Given the description of an element on the screen output the (x, y) to click on. 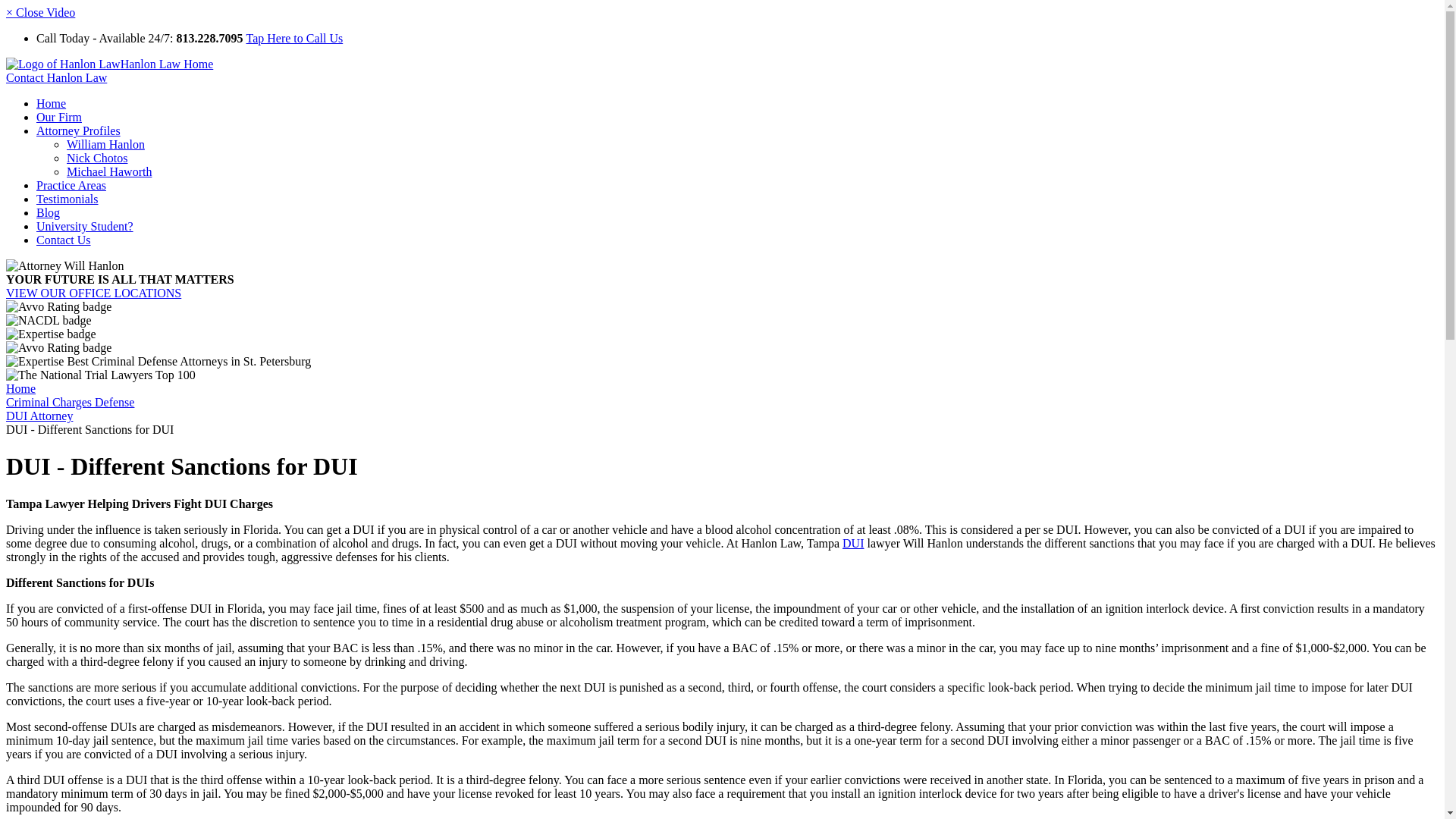
Home (50, 103)
William Hanlon (105, 144)
Home (19, 388)
Michael Haworth (108, 171)
Practice Areas (71, 185)
DUI (853, 543)
Blog (47, 212)
Testimonials (67, 198)
Contact Us (63, 239)
Contact Hanlon Law (55, 77)
